Given the description of an element on the screen output the (x, y) to click on. 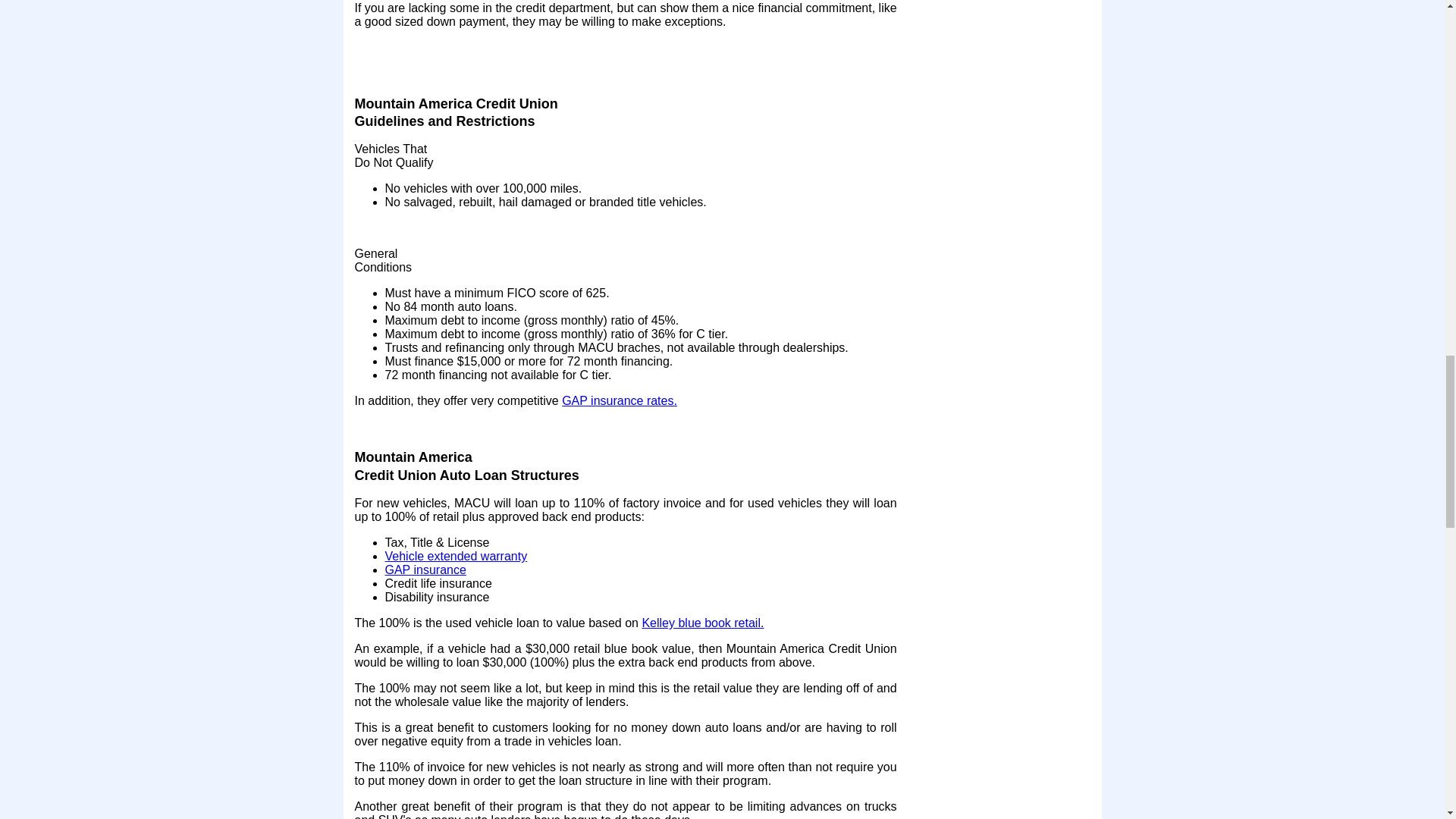
GAP insurance rates. (619, 400)
GAP insurance (425, 569)
Vehicle extended warranty (456, 555)
Kelley blue book retail. (702, 622)
